Given the description of an element on the screen output the (x, y) to click on. 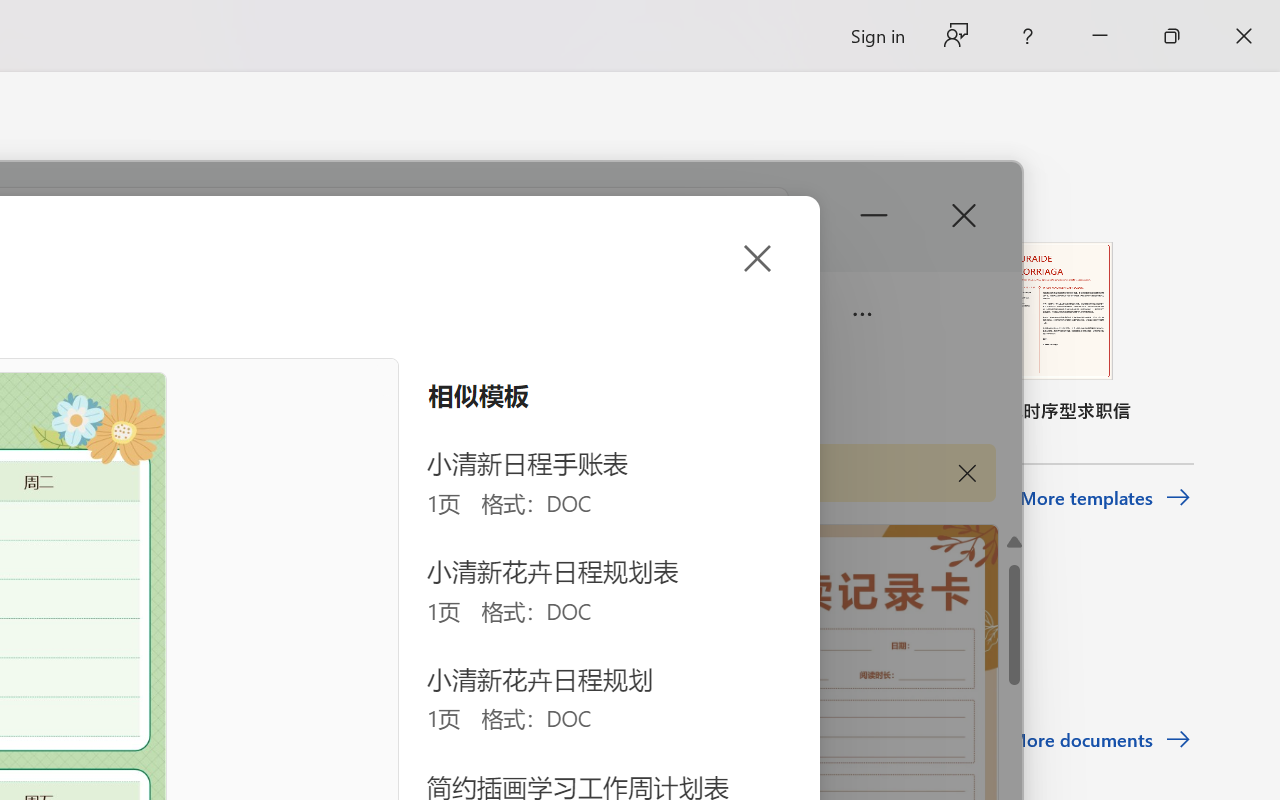
Sign in (875, 35)
More templates (1105, 498)
More documents (1100, 740)
